Given the description of an element on the screen output the (x, y) to click on. 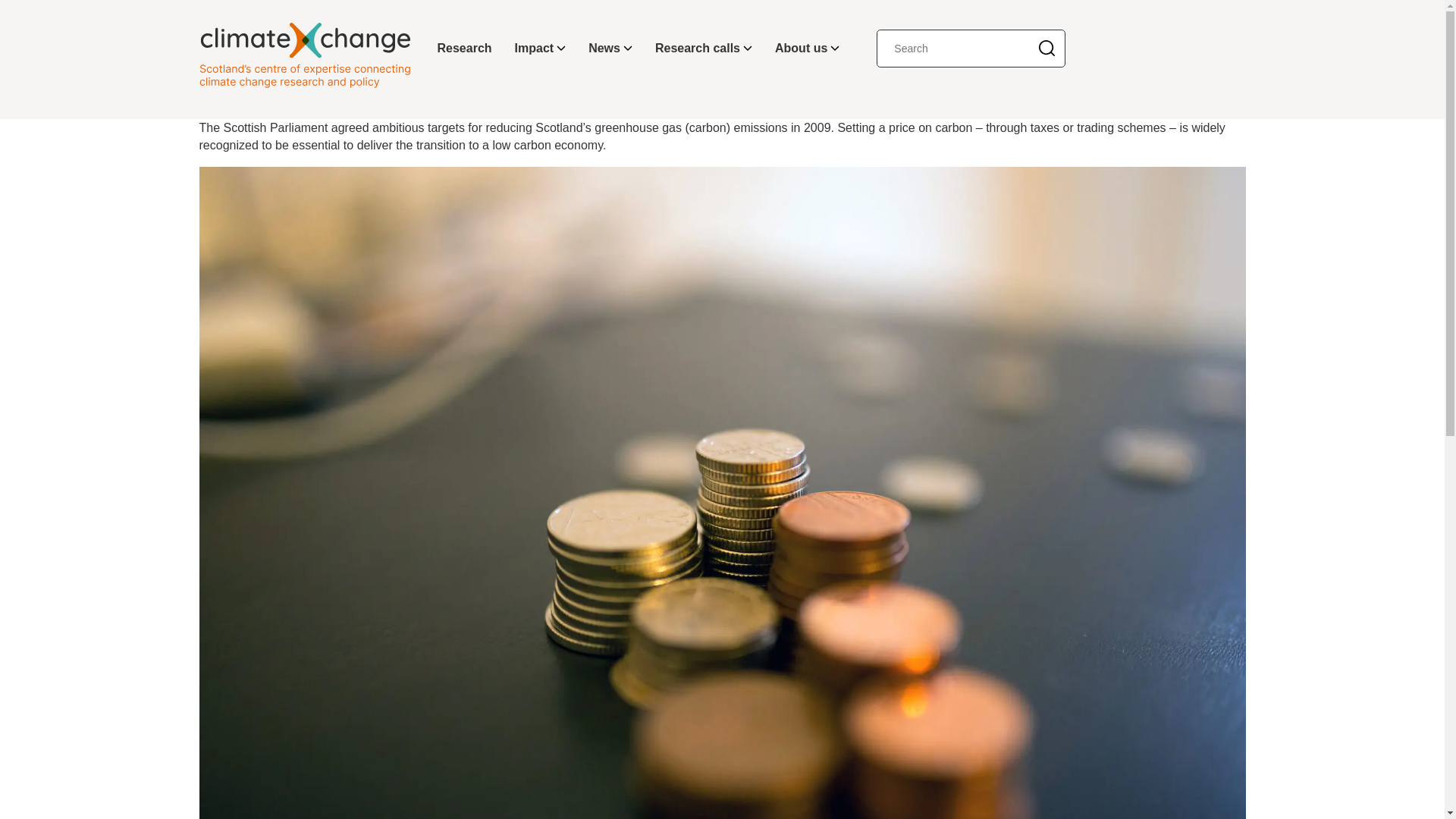
News (609, 48)
Research calls (702, 48)
Research (464, 48)
About us (806, 48)
Impact (540, 48)
